Given the description of an element on the screen output the (x, y) to click on. 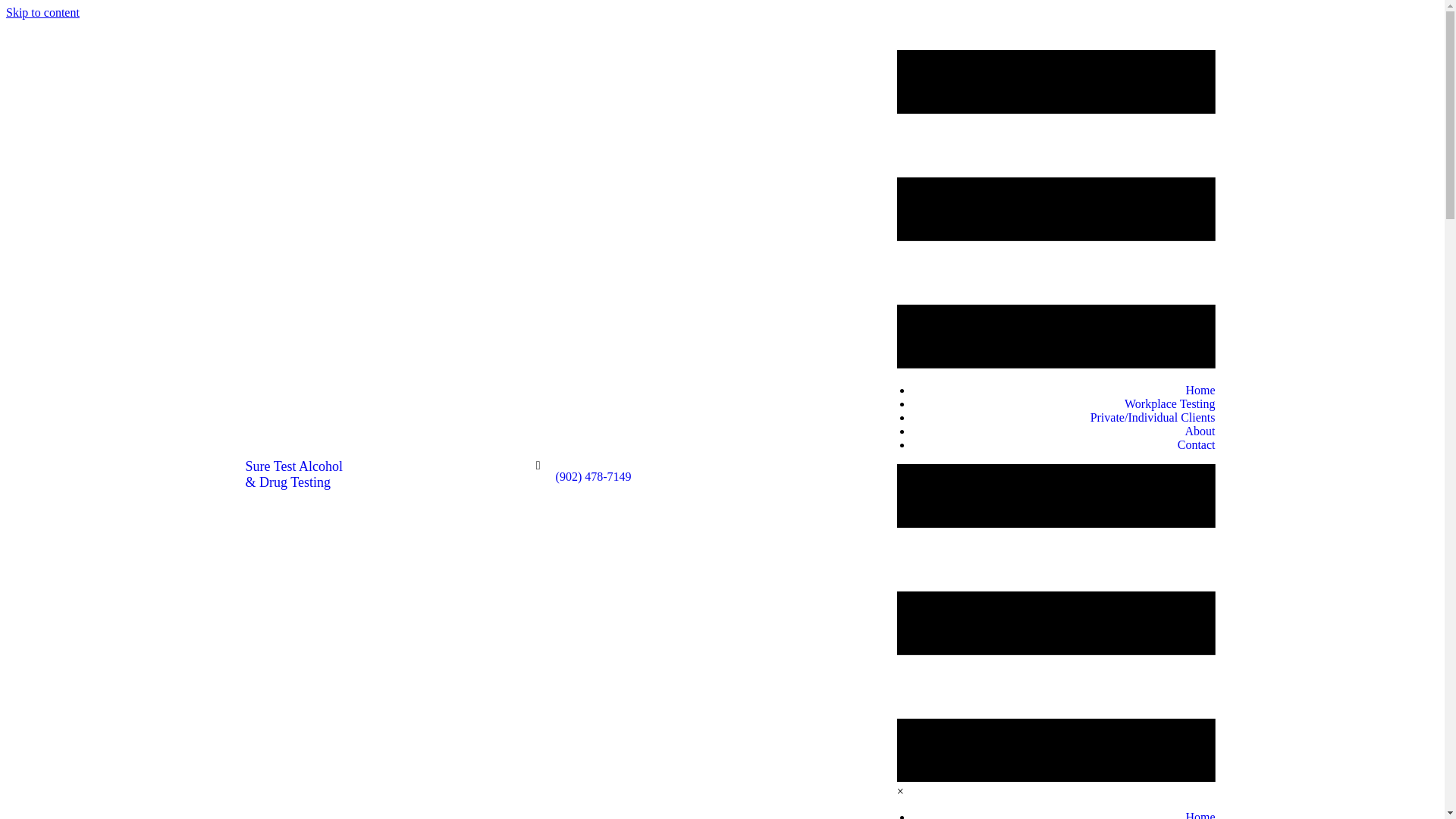
About (1199, 431)
uabb-menu-toggle (1055, 208)
Contact (1196, 444)
Workplace Testing (1169, 403)
uabb-menu-toggle (1055, 623)
Home (1199, 390)
Skip to content (42, 11)
Home (1199, 814)
